Given the description of an element on the screen output the (x, y) to click on. 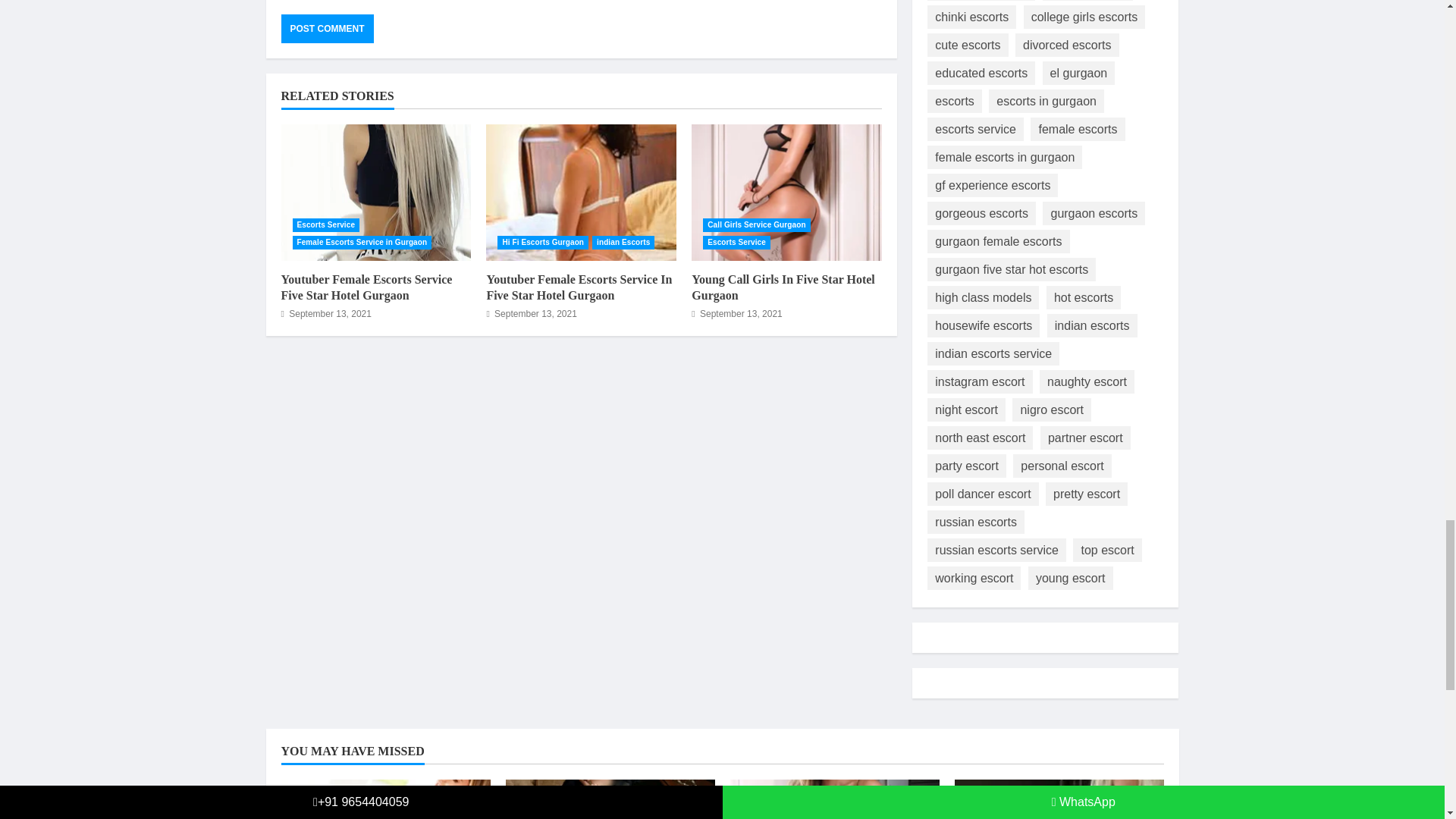
Young Call Girls In Five Star Hotel Gurgaon (786, 192)
Youtuber Female Escorts Service In Five Star Hotel Gurgaon (578, 287)
Hi Fi Escorts Gurgaon (542, 242)
Youtuber Female Escorts Service In Five Star Hotel Gurgaon (581, 192)
Escorts Service (325, 224)
Post Comment (326, 28)
Post Comment (326, 28)
Call Girls Service Gurgaon (756, 224)
indian Escorts (622, 242)
Female Escorts Service in Gurgaon (362, 242)
Young Call Girls In Five Star Hotel Gurgaon (783, 287)
Escorts Service (736, 242)
Youtuber Female Escorts Service Five Star Hotel Gurgaon (366, 287)
Youtuber Female Escorts Service Five Star Hotel Gurgaon (375, 192)
